Given the description of an element on the screen output the (x, y) to click on. 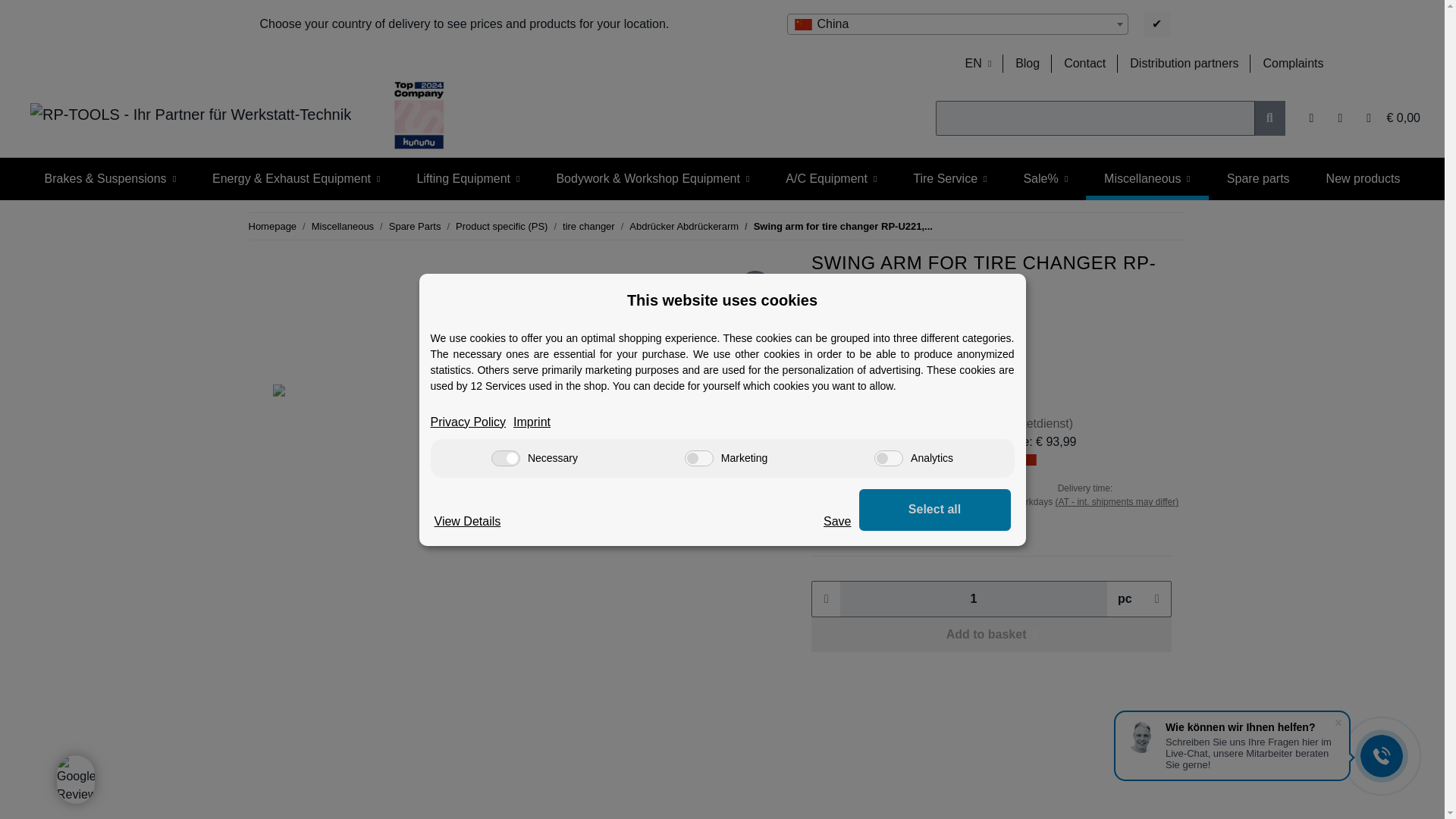
Blog (1027, 63)
EN (977, 63)
Lifting Equipment (467, 178)
on (505, 458)
Complaints (1292, 63)
1 (973, 598)
China (956, 24)
Spare parts (1257, 178)
Complaints (1292, 63)
Miscellaneous (1147, 178)
Tire Service (949, 178)
Blog (1027, 63)
How can we help you? (1084, 63)
Contact (1084, 63)
Distribution partners (1184, 63)
